Given the description of an element on the screen output the (x, y) to click on. 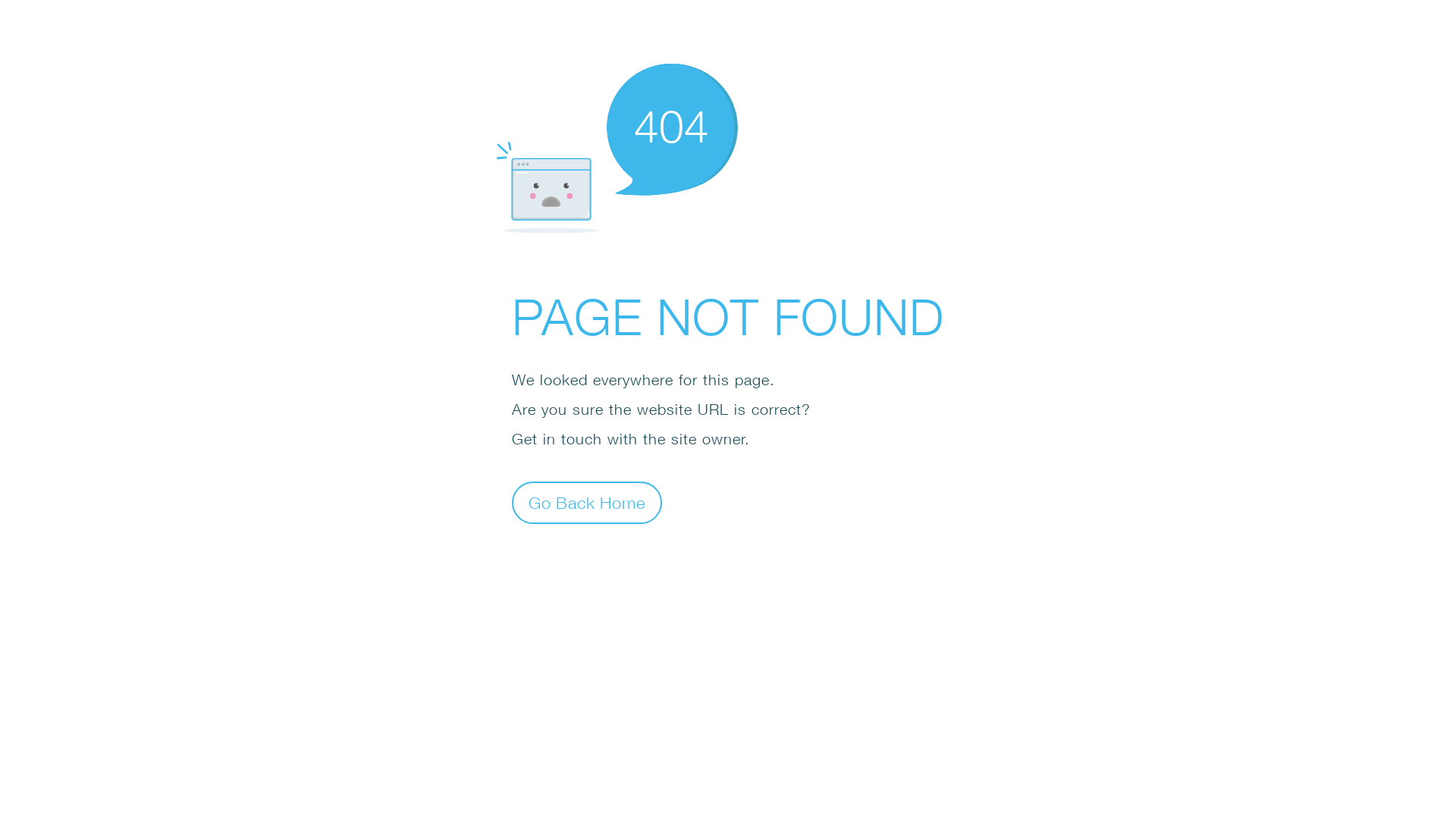
Go Back Home Element type: text (586, 502)
